Given the description of an element on the screen output the (x, y) to click on. 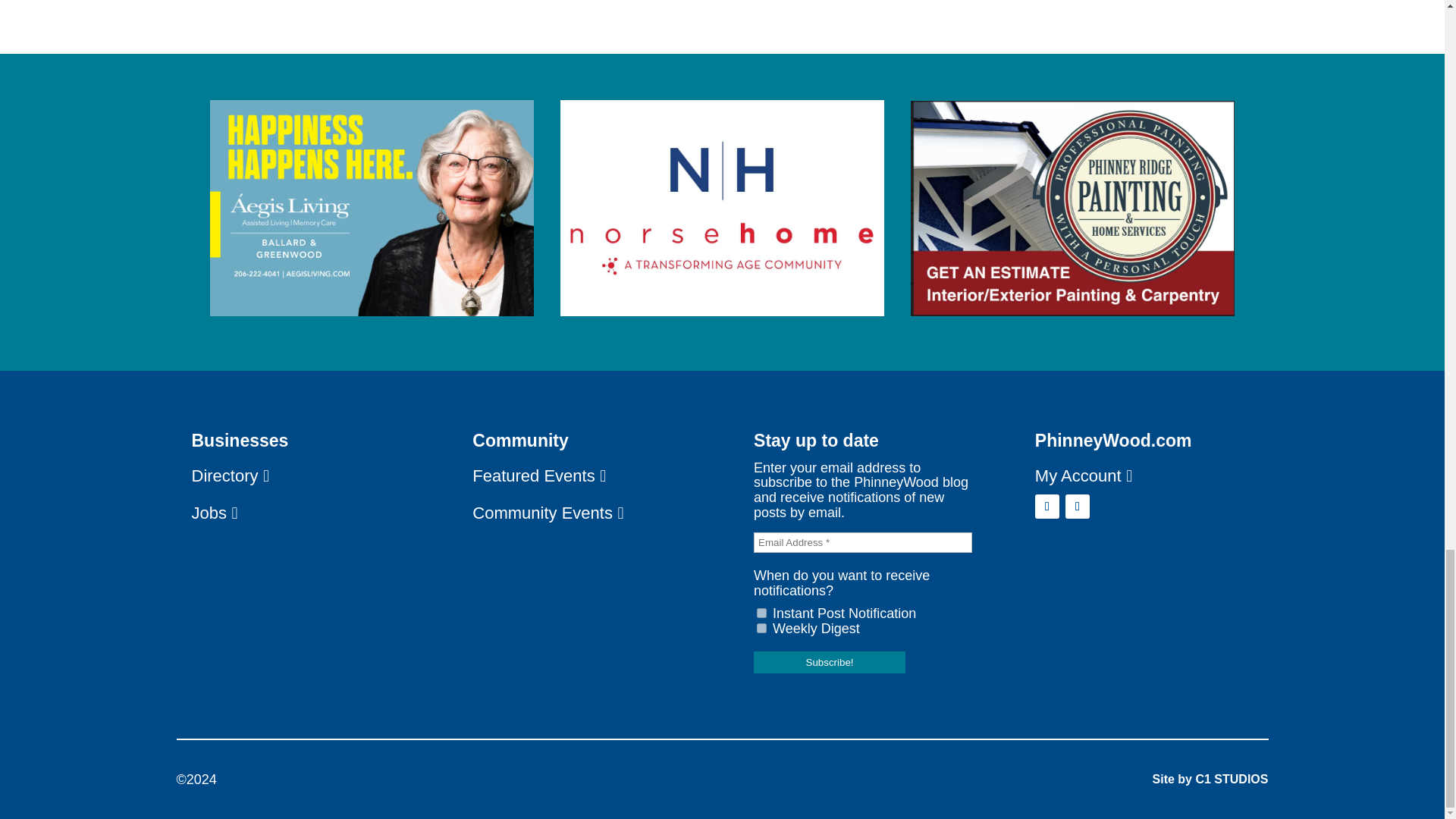
3 (762, 628)
4 (762, 613)
Email Address (863, 542)
Follow on Facebook (1047, 506)
Subscribe! (829, 662)
Follow on X (1077, 506)
